Given the description of an element on the screen output the (x, y) to click on. 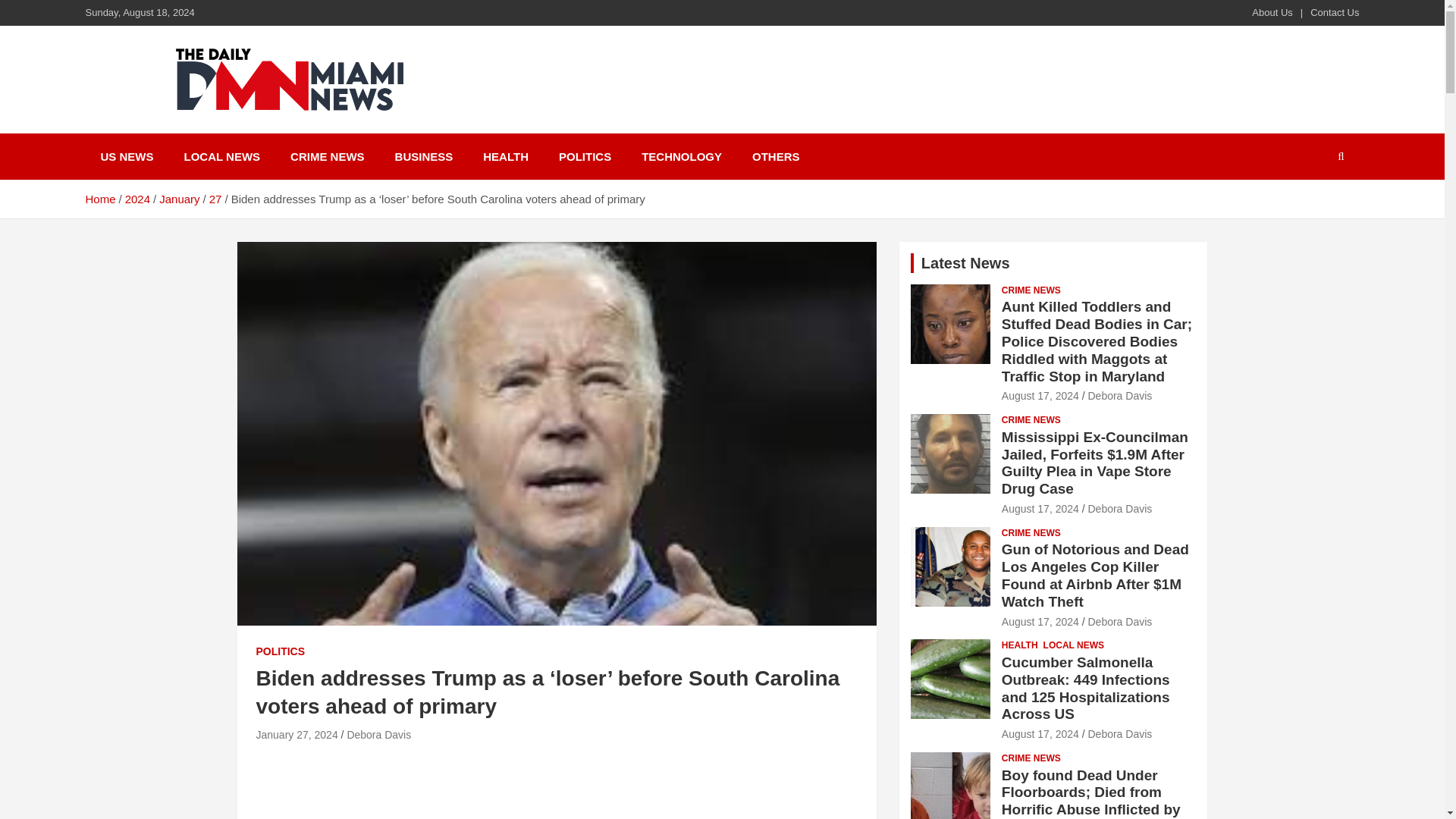
CRIME NEWS (327, 156)
HEALTH (505, 156)
Contact Us (1334, 12)
August 17, 2024 (1039, 395)
2024 (137, 198)
Debora Davis (378, 734)
Home (99, 198)
January 27, 2024 (296, 734)
BUSINESS (424, 156)
